Given the description of an element on the screen output the (x, y) to click on. 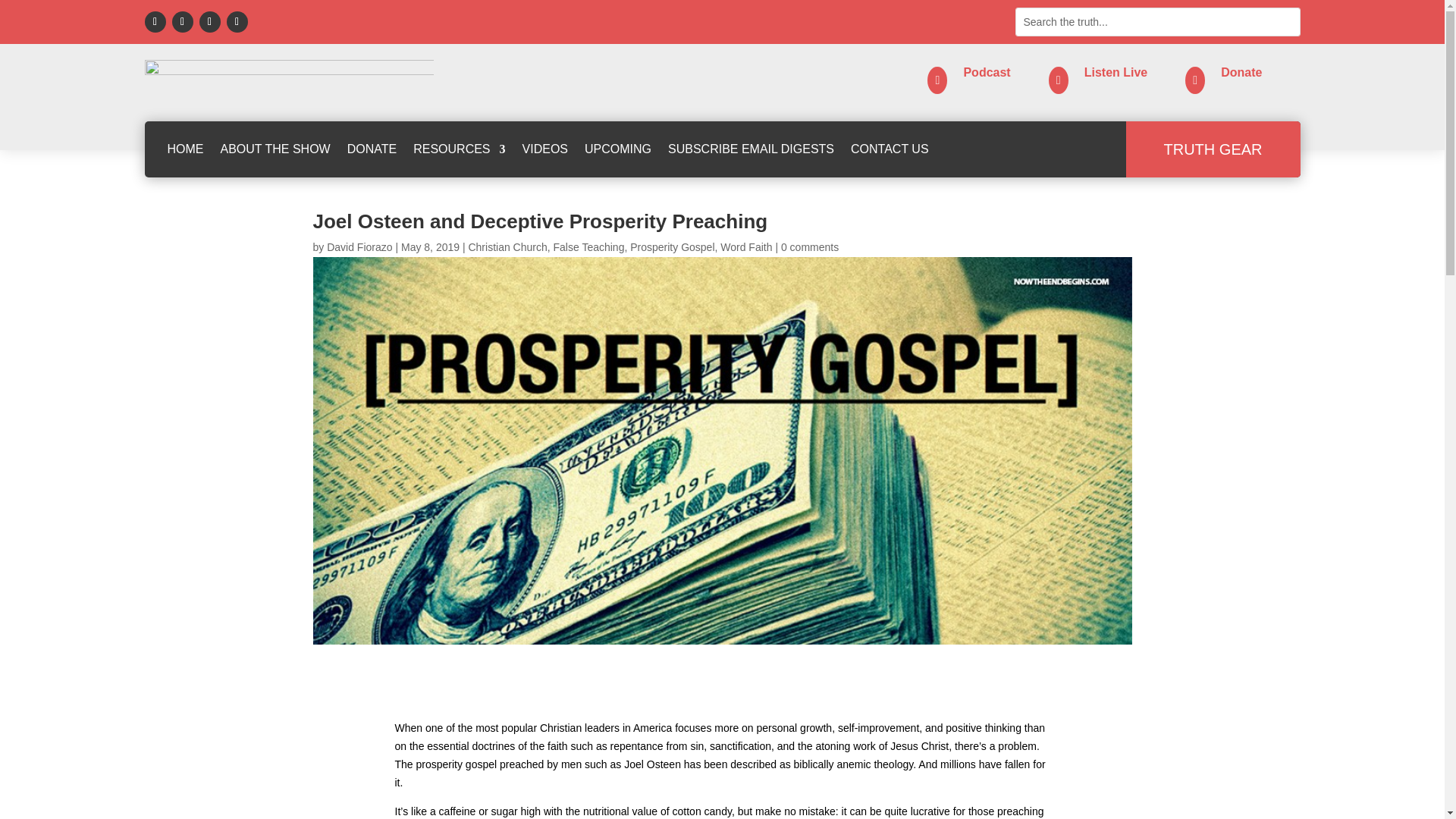
Word Faith (745, 246)
David Fiorazo (358, 246)
False Teaching (588, 246)
UPCOMING (617, 149)
Follow on Instagram (208, 21)
Christian Church (507, 246)
Listen Live (1116, 72)
RESOURCES (459, 149)
Follow on RSS (236, 21)
